Given the description of an element on the screen output the (x, y) to click on. 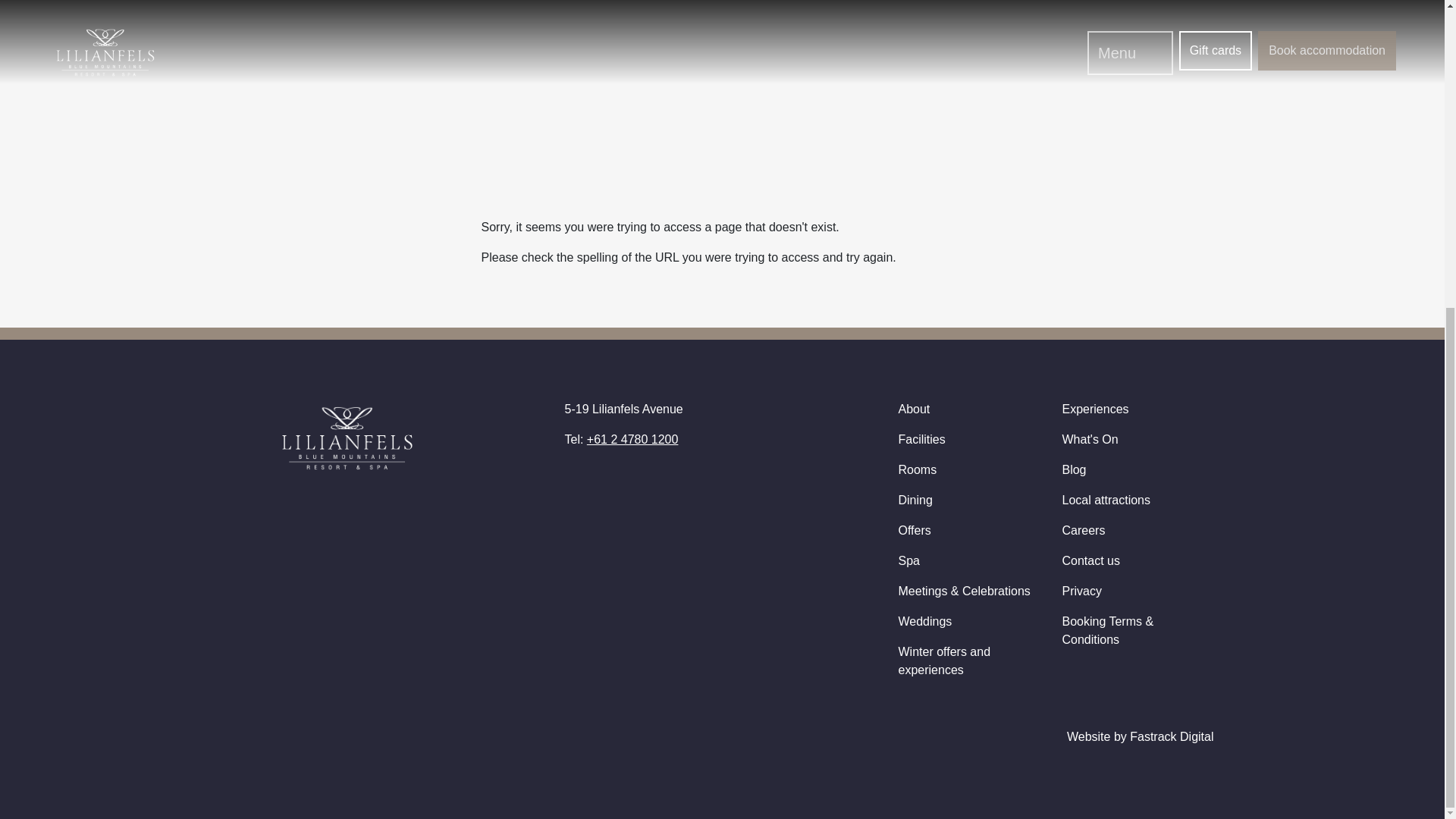
Weddings (925, 621)
Facilities (921, 439)
Local attractions (1105, 499)
What's On (1089, 439)
Spa (908, 560)
Dining (914, 499)
Experiences (1094, 408)
About (914, 408)
Offers (914, 530)
Winter offers and experiences (944, 660)
